Given the description of an element on the screen output the (x, y) to click on. 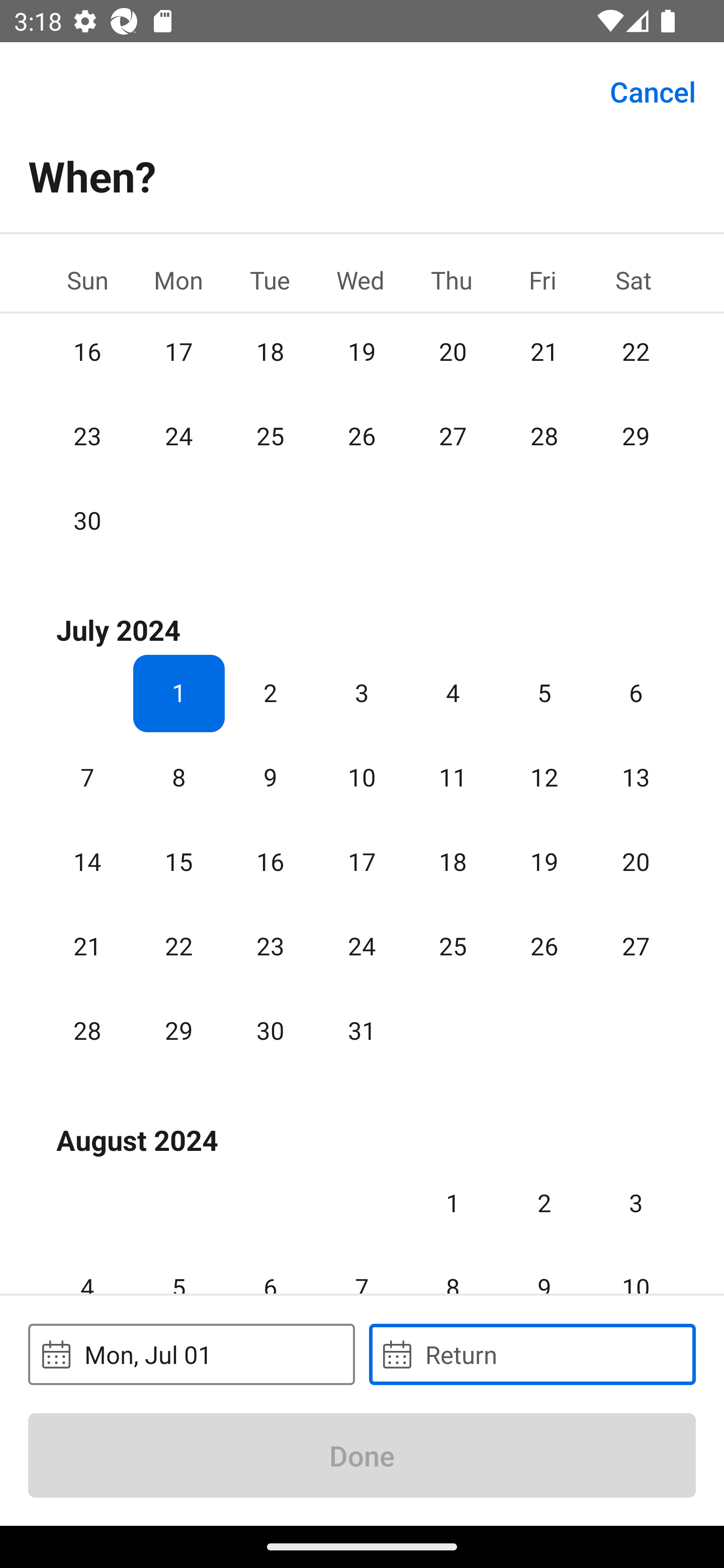
Cancel (652, 90)
Mon, Jul 01 (191, 1353)
Return (532, 1353)
Done (361, 1454)
